Given the description of an element on the screen output the (x, y) to click on. 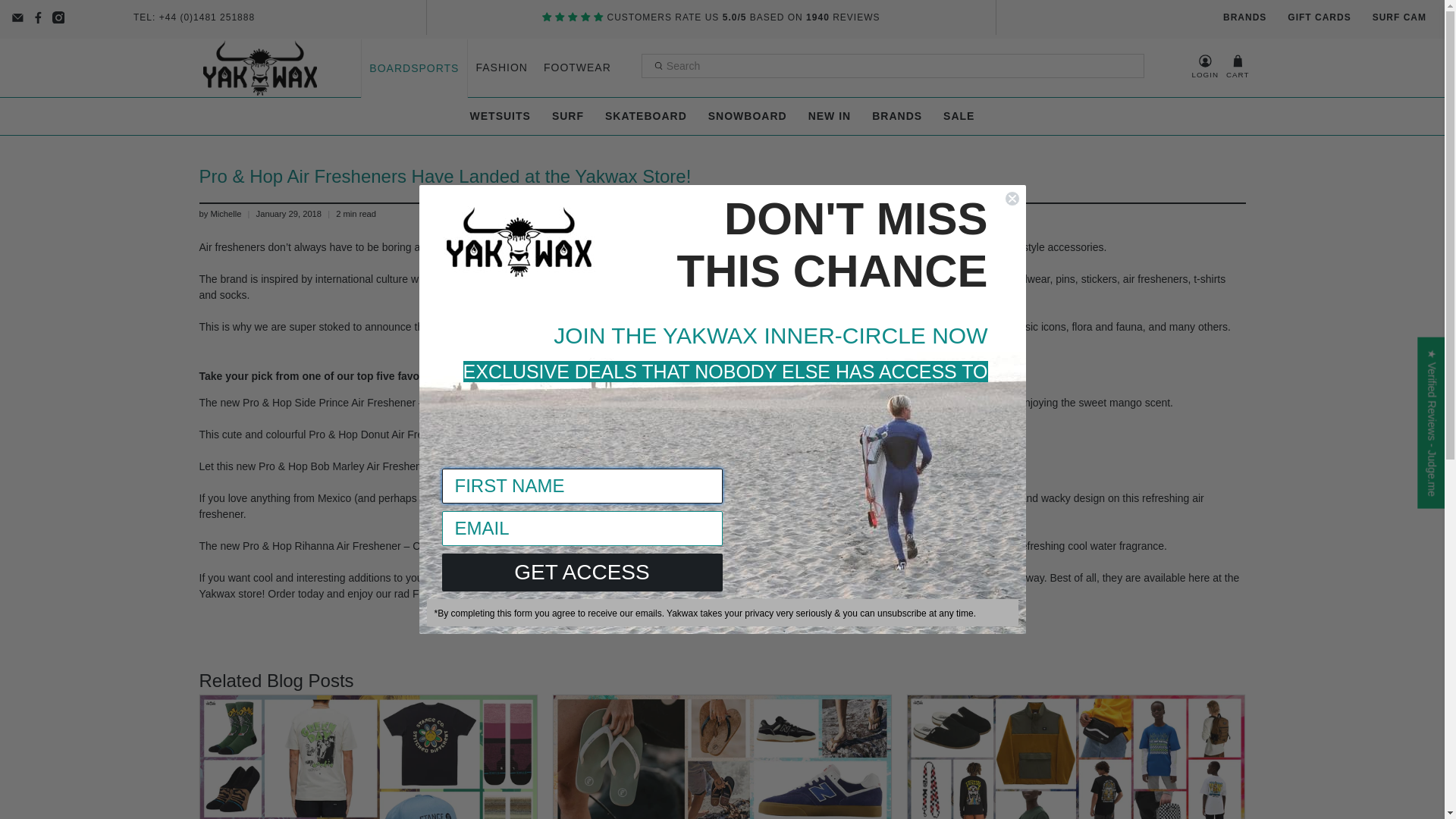
Yakwax on Facebook (38, 17)
FOOTWEAR (576, 67)
FASHION (501, 67)
SURF (567, 116)
BOARDSPORTS (414, 68)
Yakwax on Instagram (58, 17)
SNOWBOARD (747, 116)
Close dialog 1 (1011, 198)
SKATEBOARD (645, 116)
WETSUITS (500, 116)
CART (1237, 67)
GIFT CARDS (1318, 17)
Yakwax (260, 67)
NEW IN (829, 116)
